Given the description of an element on the screen output the (x, y) to click on. 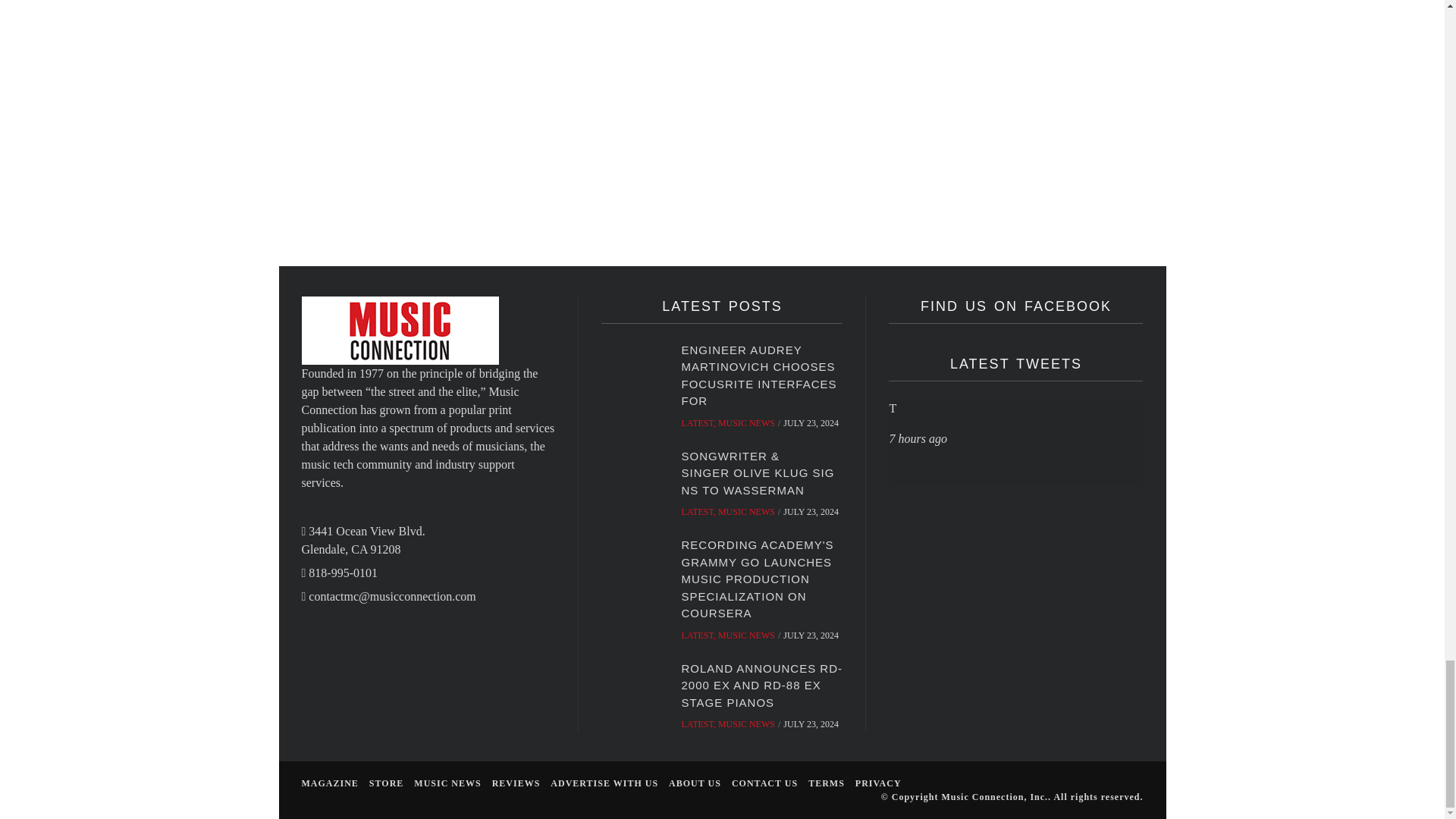
3rd party ad content (1002, 67)
